Given the description of an element on the screen output the (x, y) to click on. 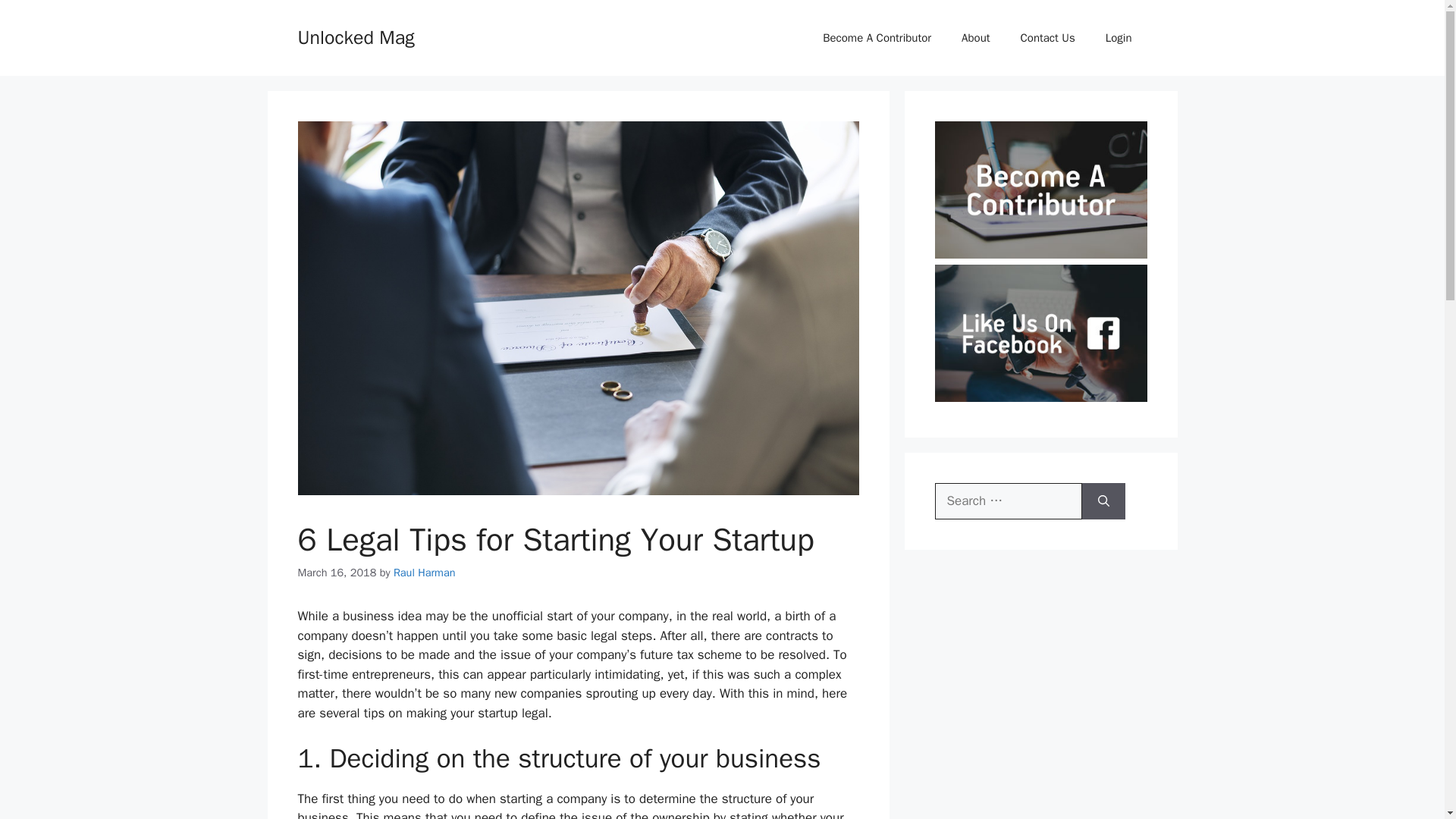
Search for: (1007, 501)
Raul Harman (424, 572)
Login (1118, 37)
View all posts by Raul Harman (424, 572)
Become A Contributor (877, 37)
Contact Us (1048, 37)
About (975, 37)
Unlocked Mag (355, 37)
